Given the description of an element on the screen output the (x, y) to click on. 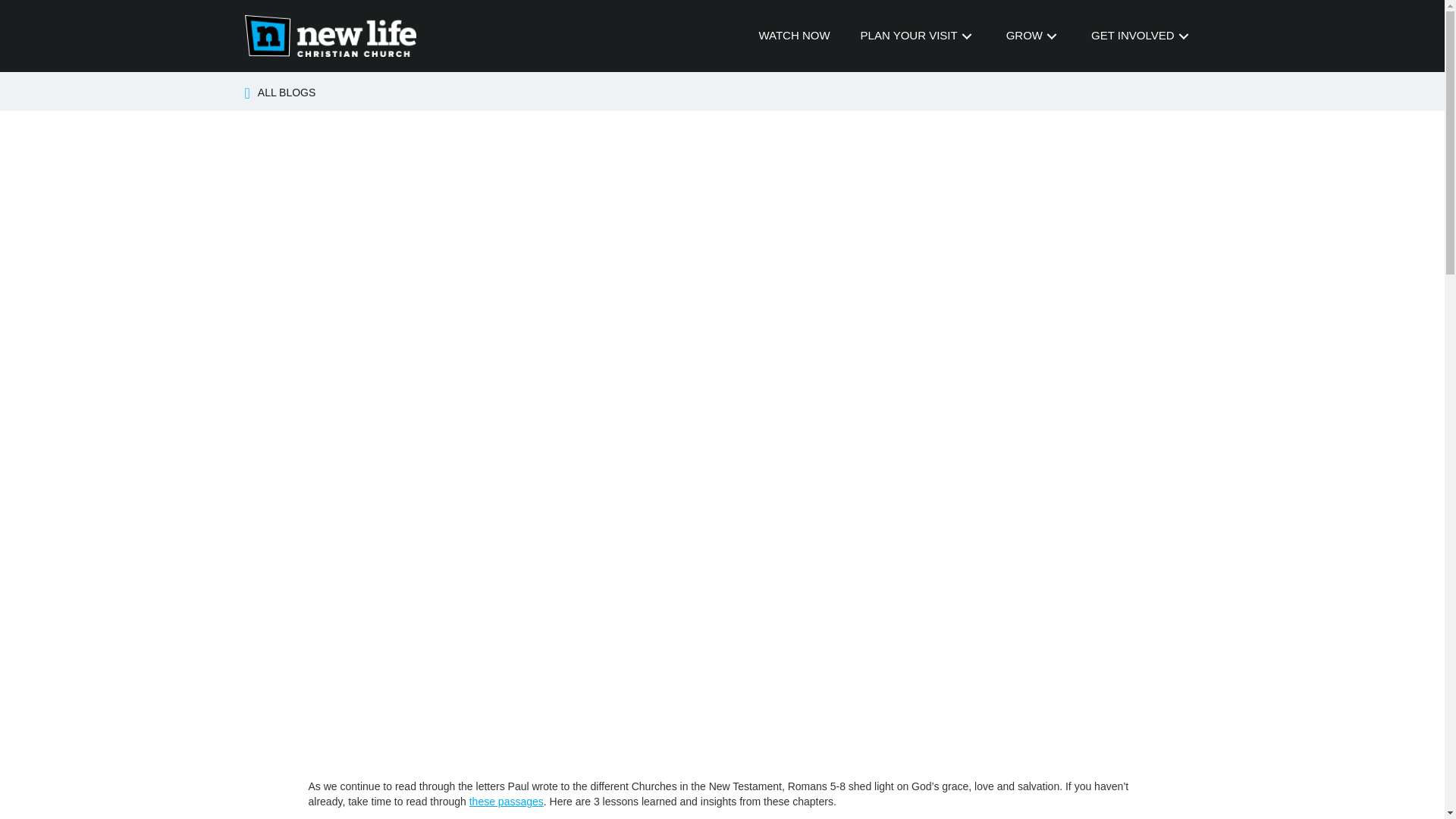
PLAN YOUR VISIT (918, 35)
GET INVOLVED (1141, 35)
these passages (505, 801)
WATCH NOW (794, 35)
GROW (1033, 35)
ALL BLOGS (286, 92)
